Given the description of an element on the screen output the (x, y) to click on. 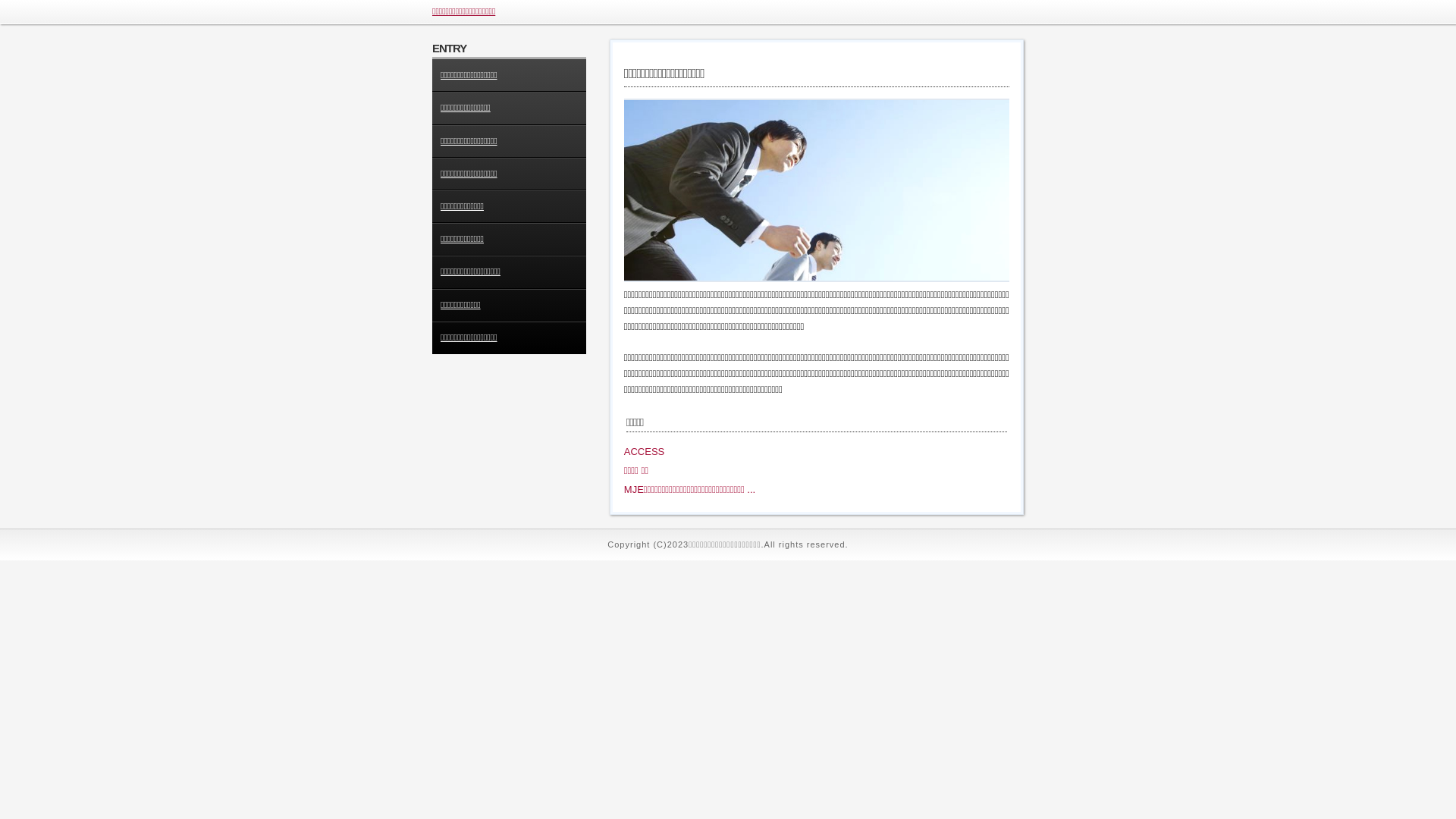
ACCESS Element type: text (644, 451)
